Given the description of an element on the screen output the (x, y) to click on. 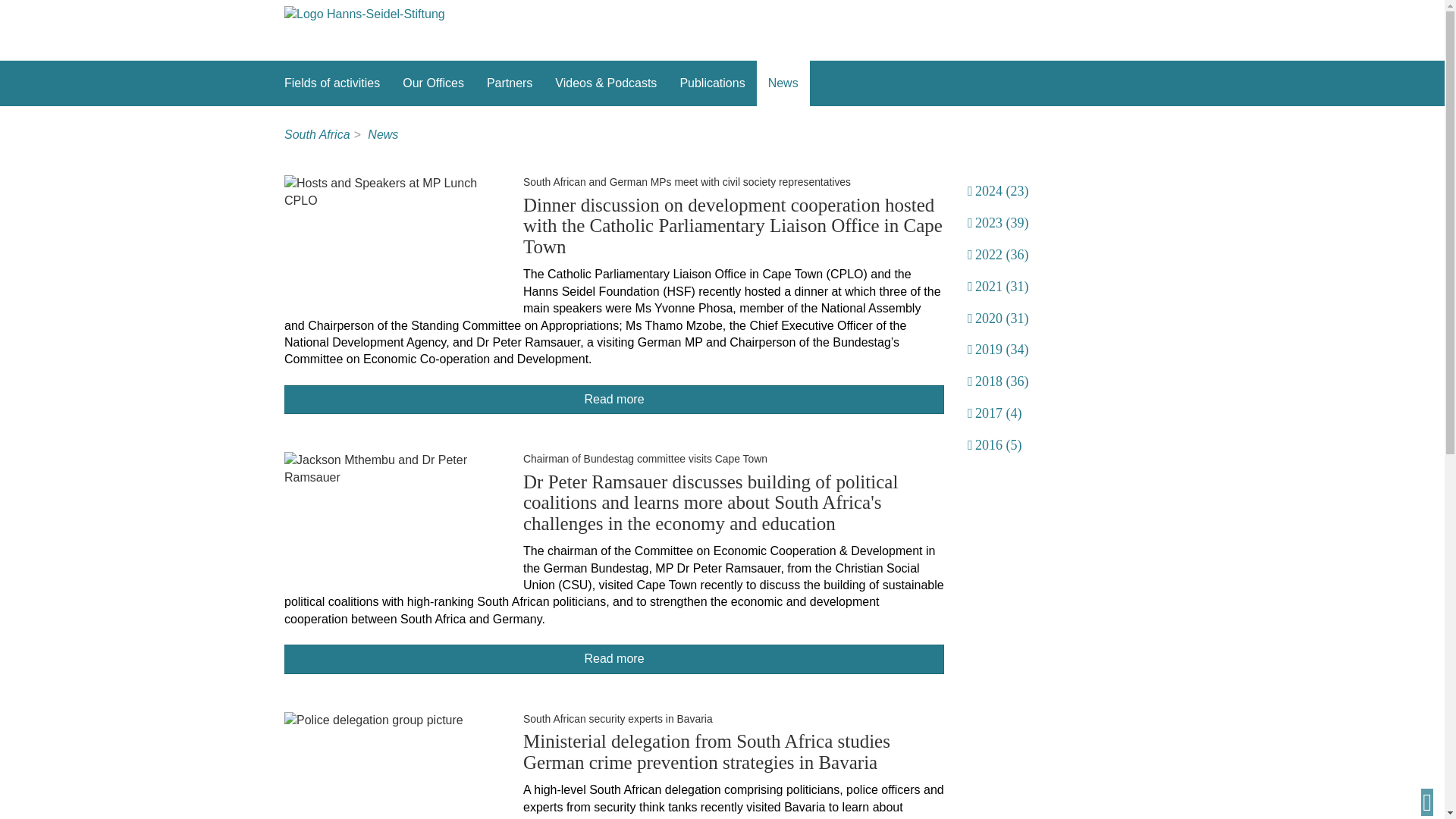
Publications (711, 83)
OK (41, 693)
Our Offices (433, 83)
Fields of activities (332, 83)
Partners (509, 83)
News (783, 83)
